Given the description of an element on the screen output the (x, y) to click on. 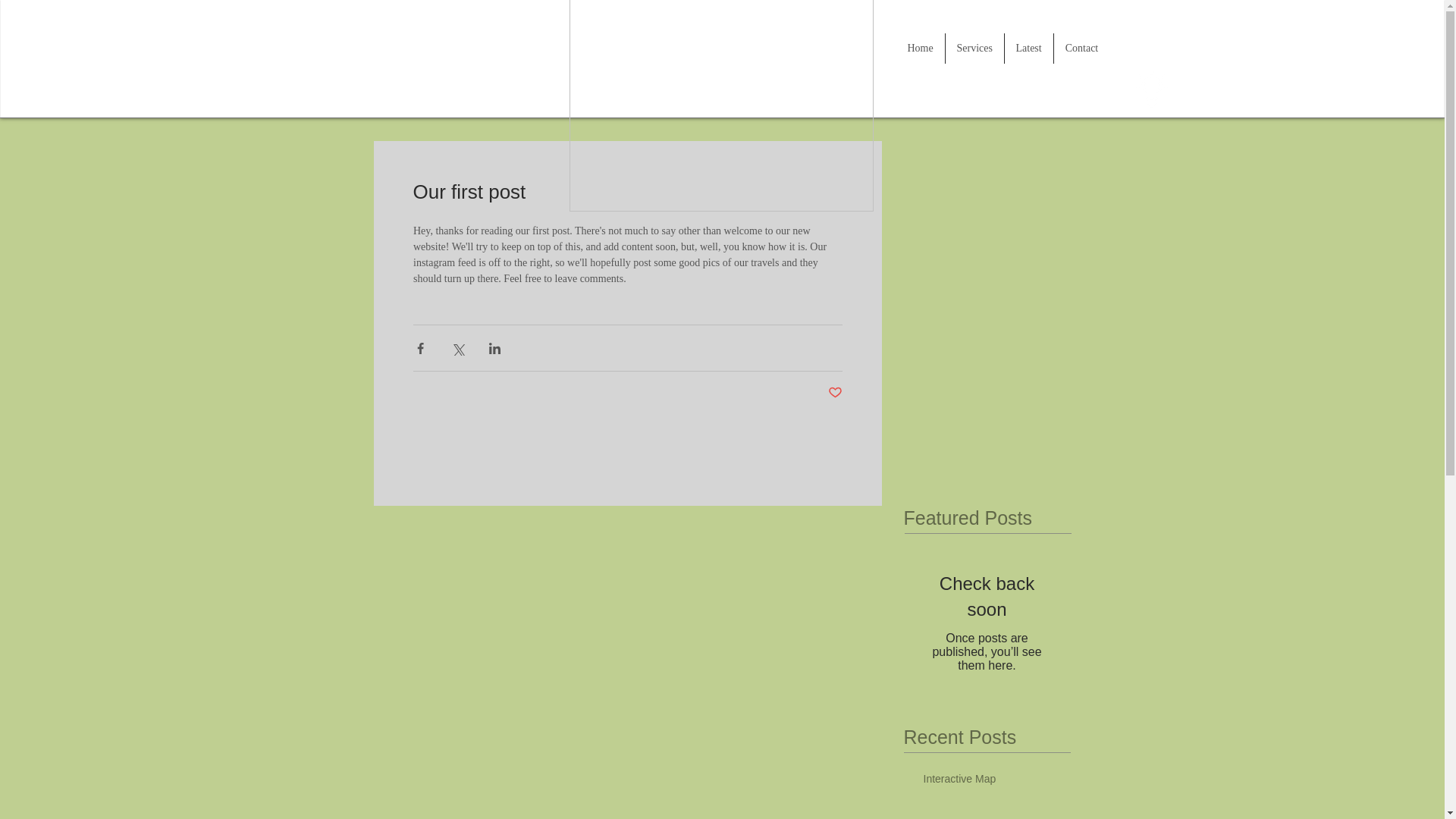
Post not marked as liked (835, 392)
Services (973, 48)
Interactive Map (992, 782)
Contact (1081, 48)
Home (920, 48)
Latest (1028, 48)
